Given the description of an element on the screen output the (x, y) to click on. 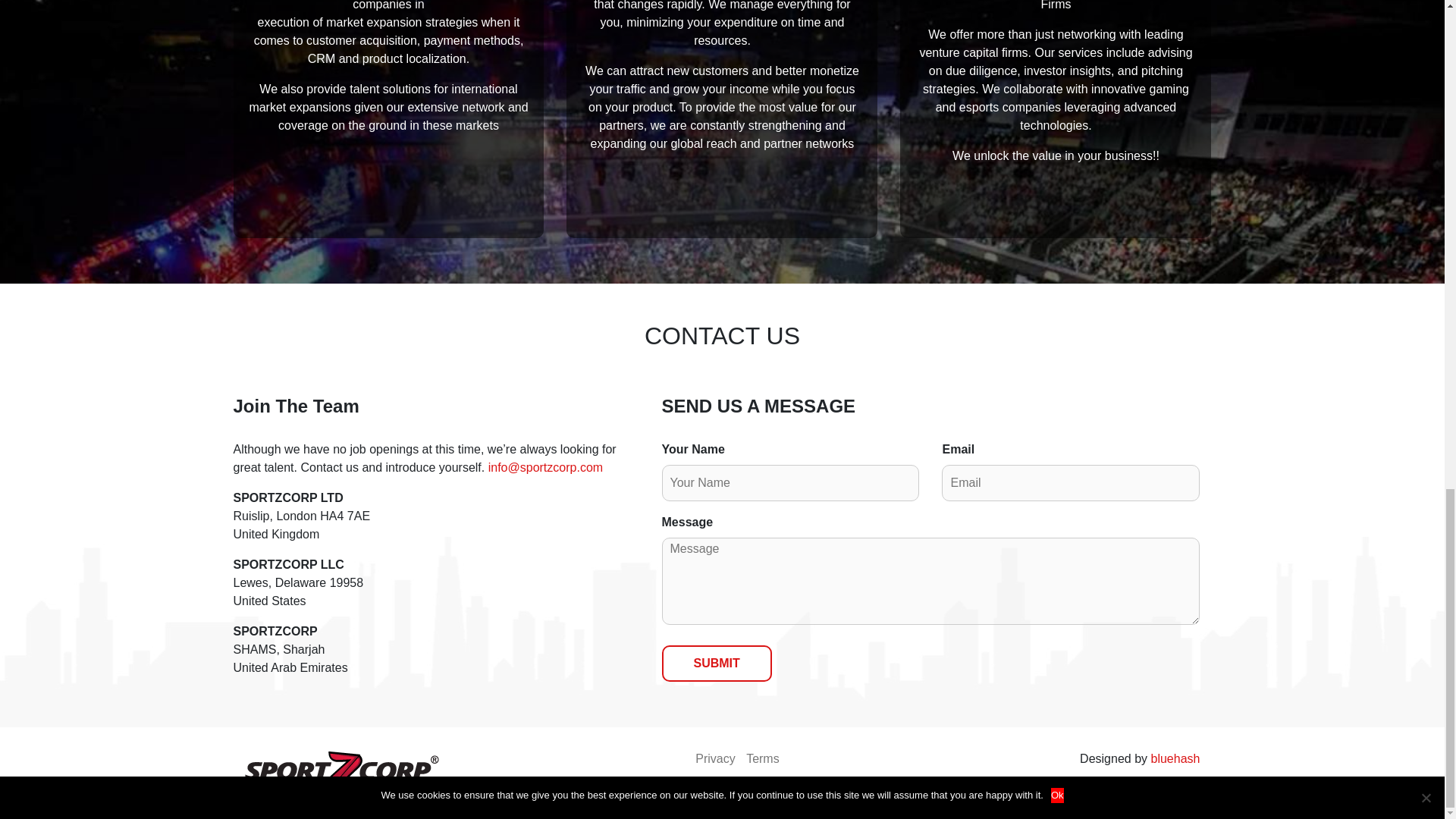
Privacy (715, 758)
Terms (761, 758)
bluehash (1175, 758)
Submit (716, 663)
Submit (716, 663)
